Given the description of an element on the screen output the (x, y) to click on. 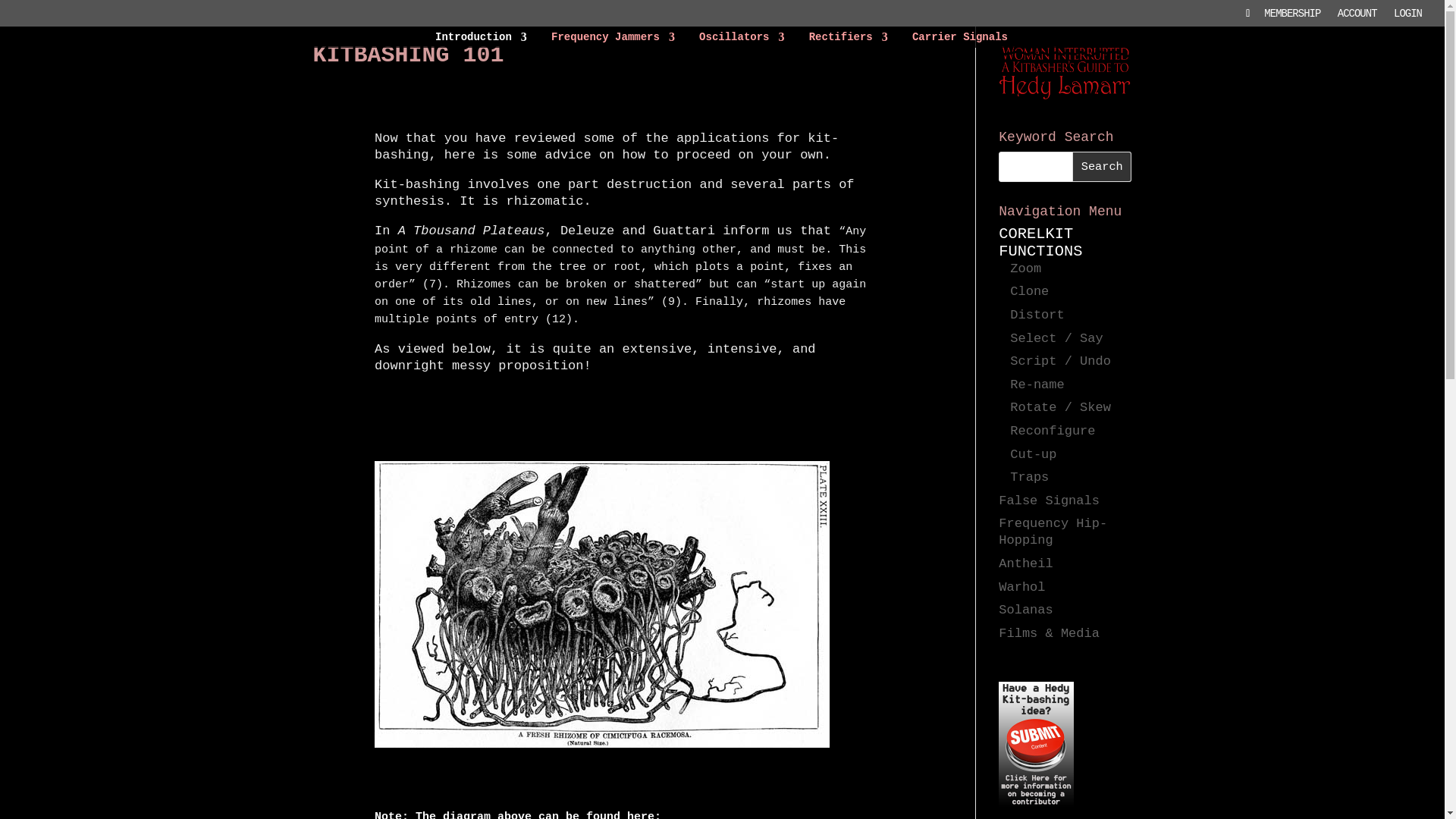
Rectifiers (848, 39)
Frequency Jammers (613, 39)
MEMBERSHIP (1291, 16)
Introduction (481, 39)
Carrier Signals (959, 39)
LOGIN (1407, 16)
ACCOUNT (1357, 16)
Search (1101, 166)
Oscillators (741, 39)
